Given the description of an element on the screen output the (x, y) to click on. 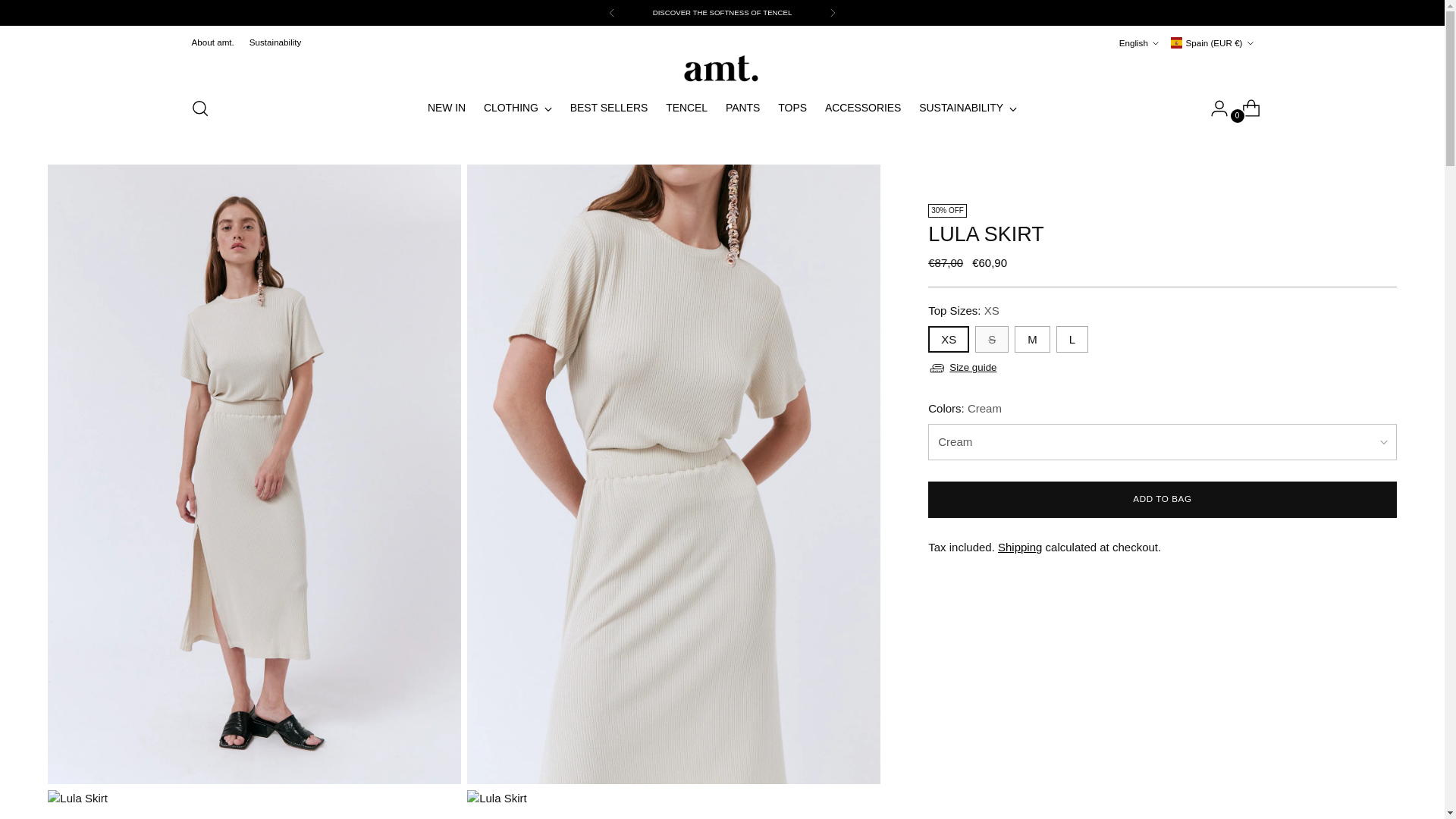
About amt. (211, 41)
English (1138, 41)
DISCOVER THE SOFTNESS OF TENCEL (722, 12)
Previous (611, 12)
Sustainability (274, 41)
Next (831, 12)
